Given the description of an element on the screen output the (x, y) to click on. 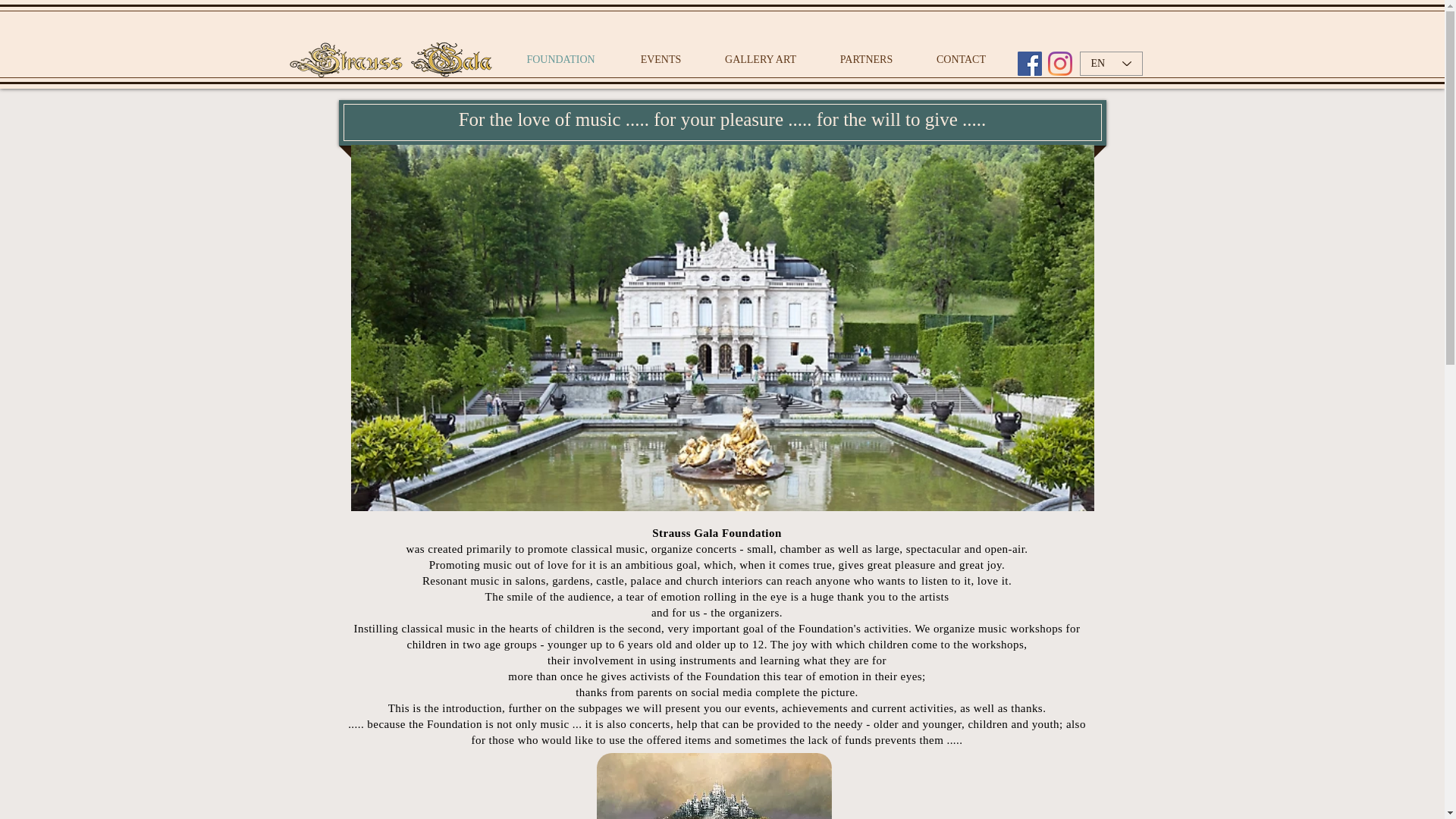
FOUNDATION (560, 60)
PARTNERS (866, 60)
EVENTS (659, 60)
GALLERY ART (759, 60)
CONTACT (961, 60)
